Given the description of an element on the screen output the (x, y) to click on. 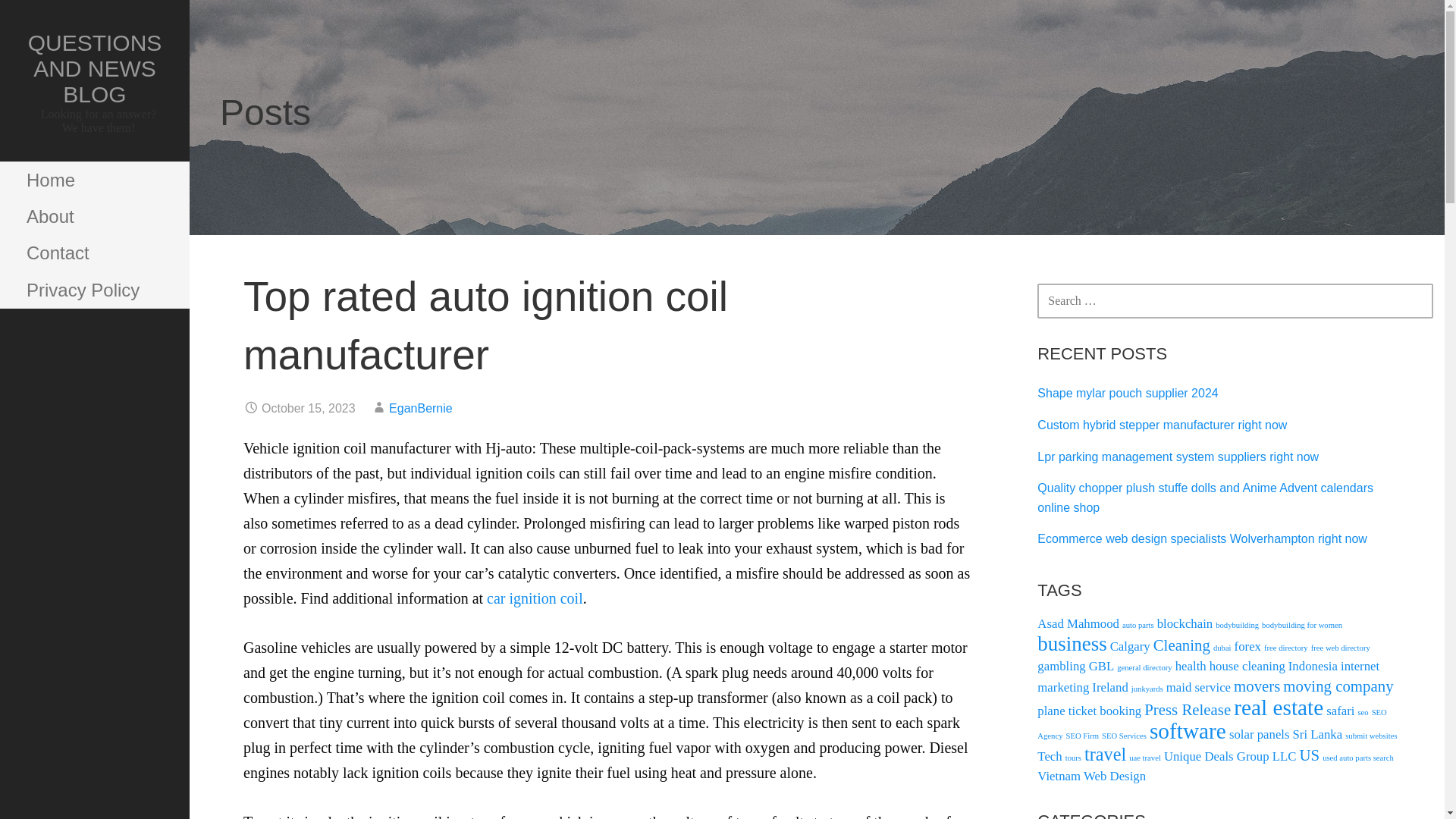
Custom hybrid stepper manufacturer right now (1161, 424)
About (94, 217)
free directory (1285, 647)
dubai (1221, 647)
Indonesia (1313, 666)
forex (1247, 646)
business (1071, 643)
bodybuilding (1237, 624)
